Given the description of an element on the screen output the (x, y) to click on. 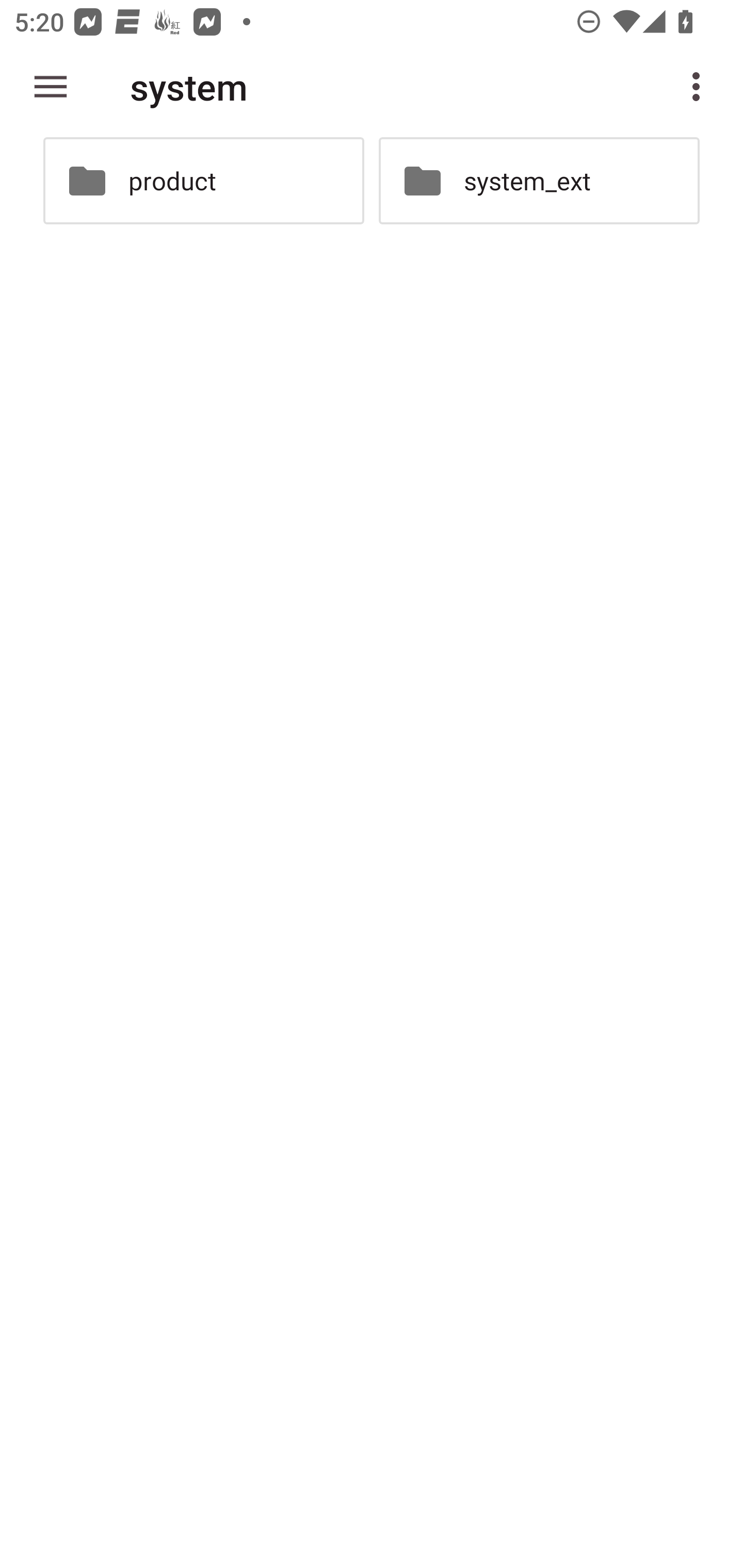
Show roots (50, 86)
More options (699, 86)
product (203, 180)
system_ext (538, 180)
